Given the description of an element on the screen output the (x, y) to click on. 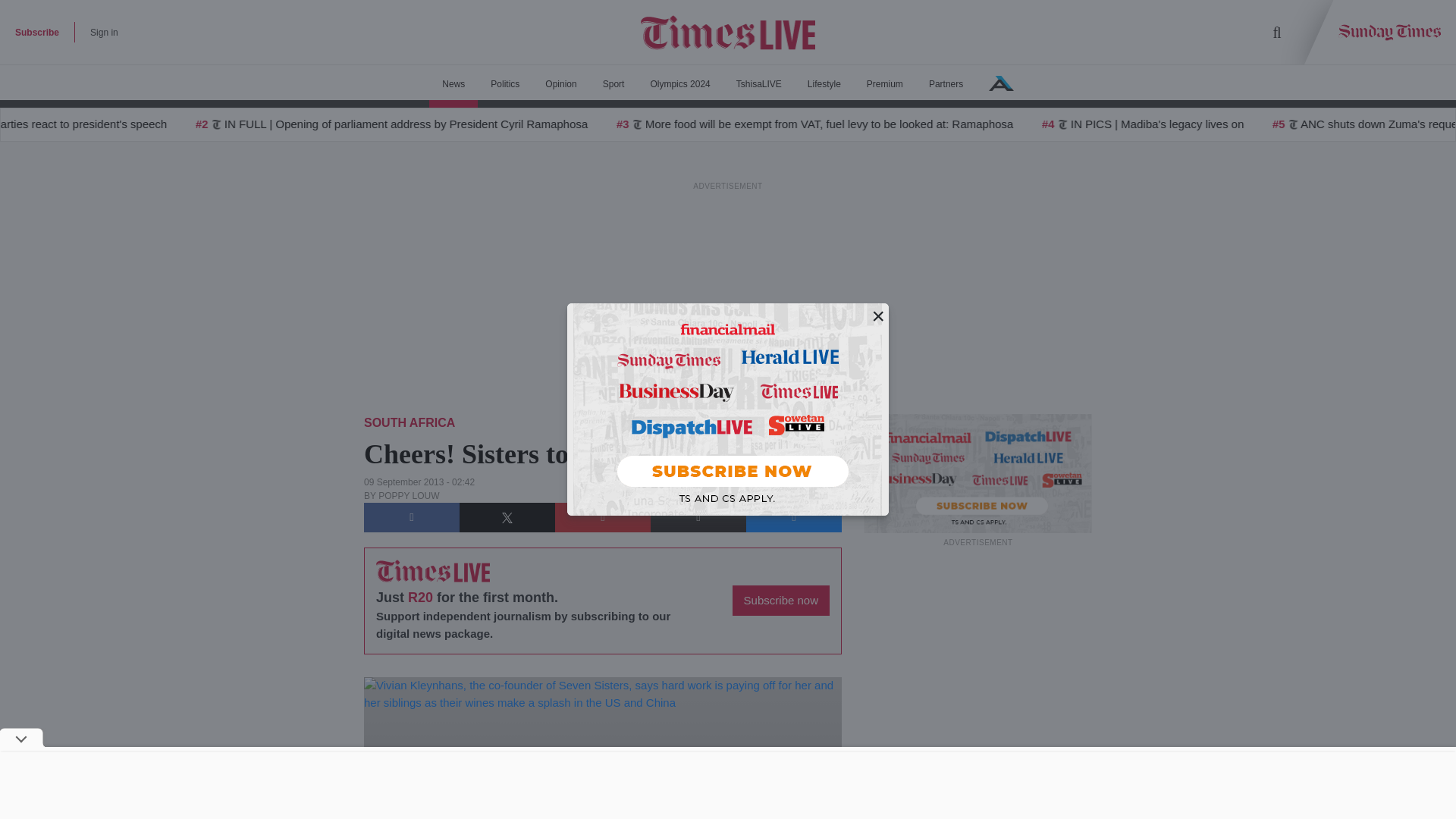
Sign in (103, 32)
Subscribe (36, 32)
Politics (504, 84)
Sport (613, 84)
3rd party ad content (727, 785)
Opinion (560, 84)
Lifestyle (823, 84)
3rd party ad content (978, 644)
Our Network (1000, 83)
News (453, 84)
Olympics 2024 (679, 84)
TshisaLIVE (758, 84)
Partners (945, 84)
